Given the description of an element on the screen output the (x, y) to click on. 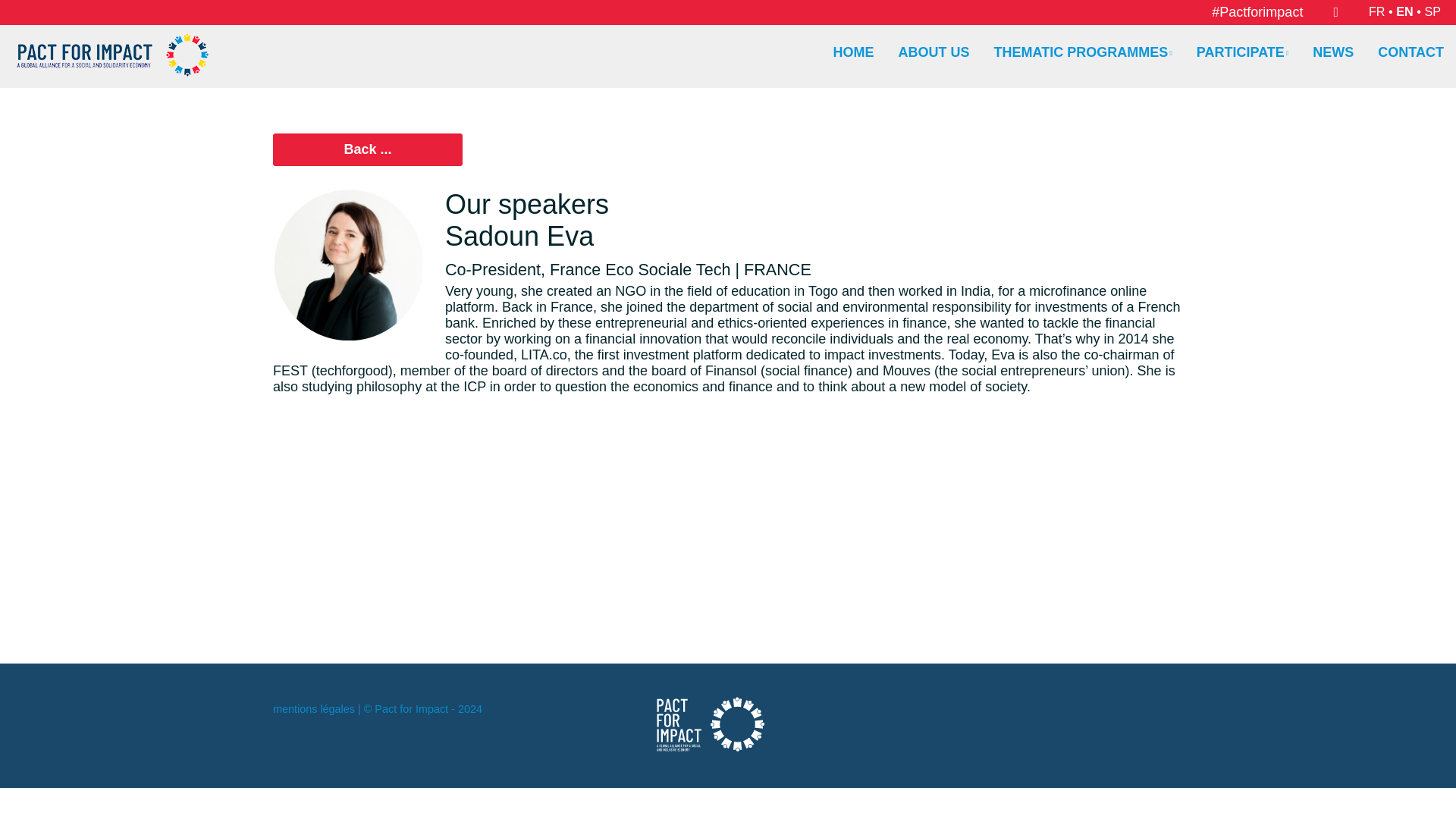
EN (1404, 11)
FR (1377, 11)
HOME (853, 52)
CONTACT (1410, 52)
NEWS (1333, 52)
PARTICIPATE (1242, 52)
SP (1432, 11)
THEMATIC PROGRAMMES (1083, 52)
ABOUT US (933, 52)
Back ... (368, 149)
